Given the description of an element on the screen output the (x, y) to click on. 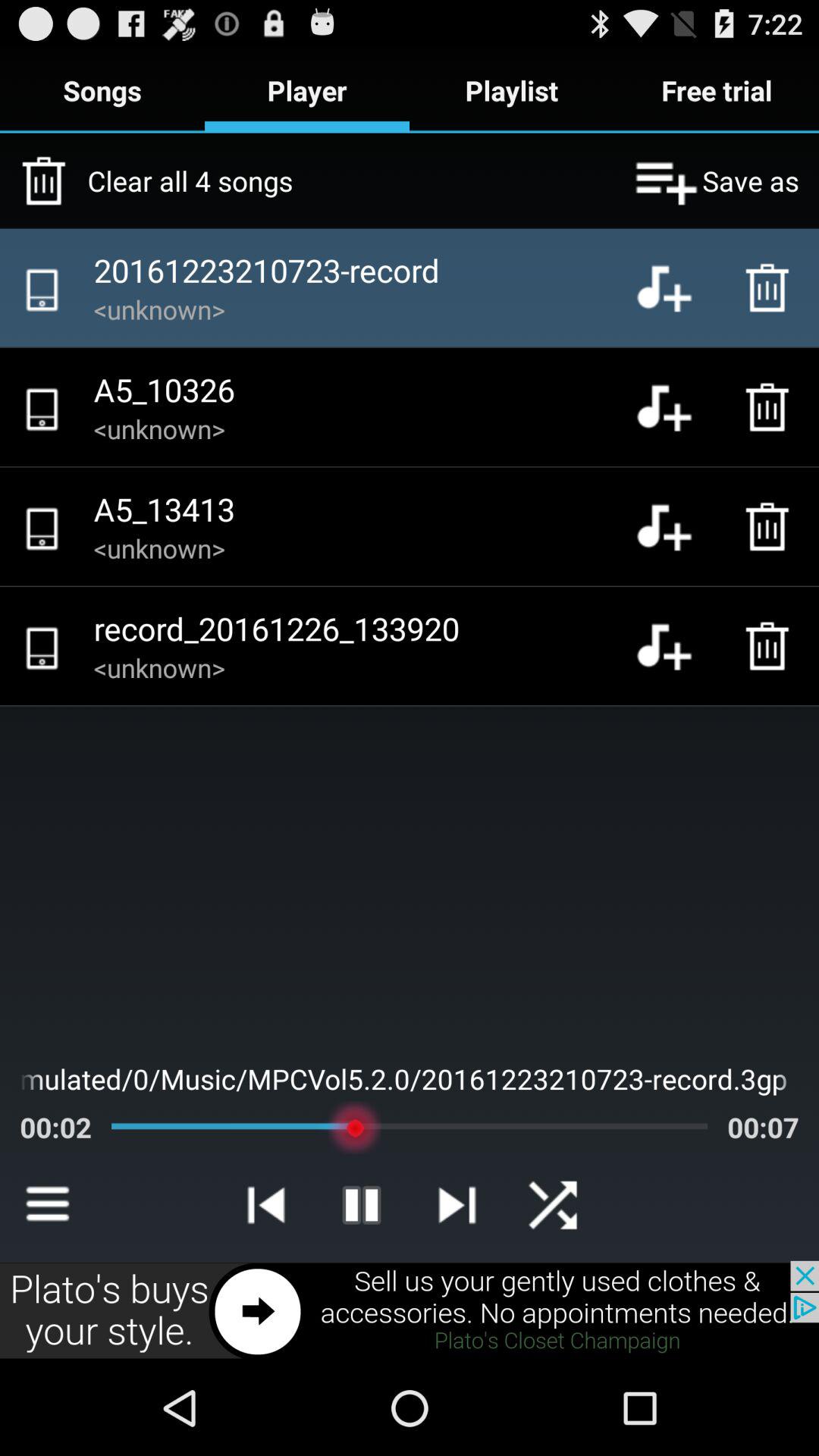
this button next (409, 1310)
